Given the description of an element on the screen output the (x, y) to click on. 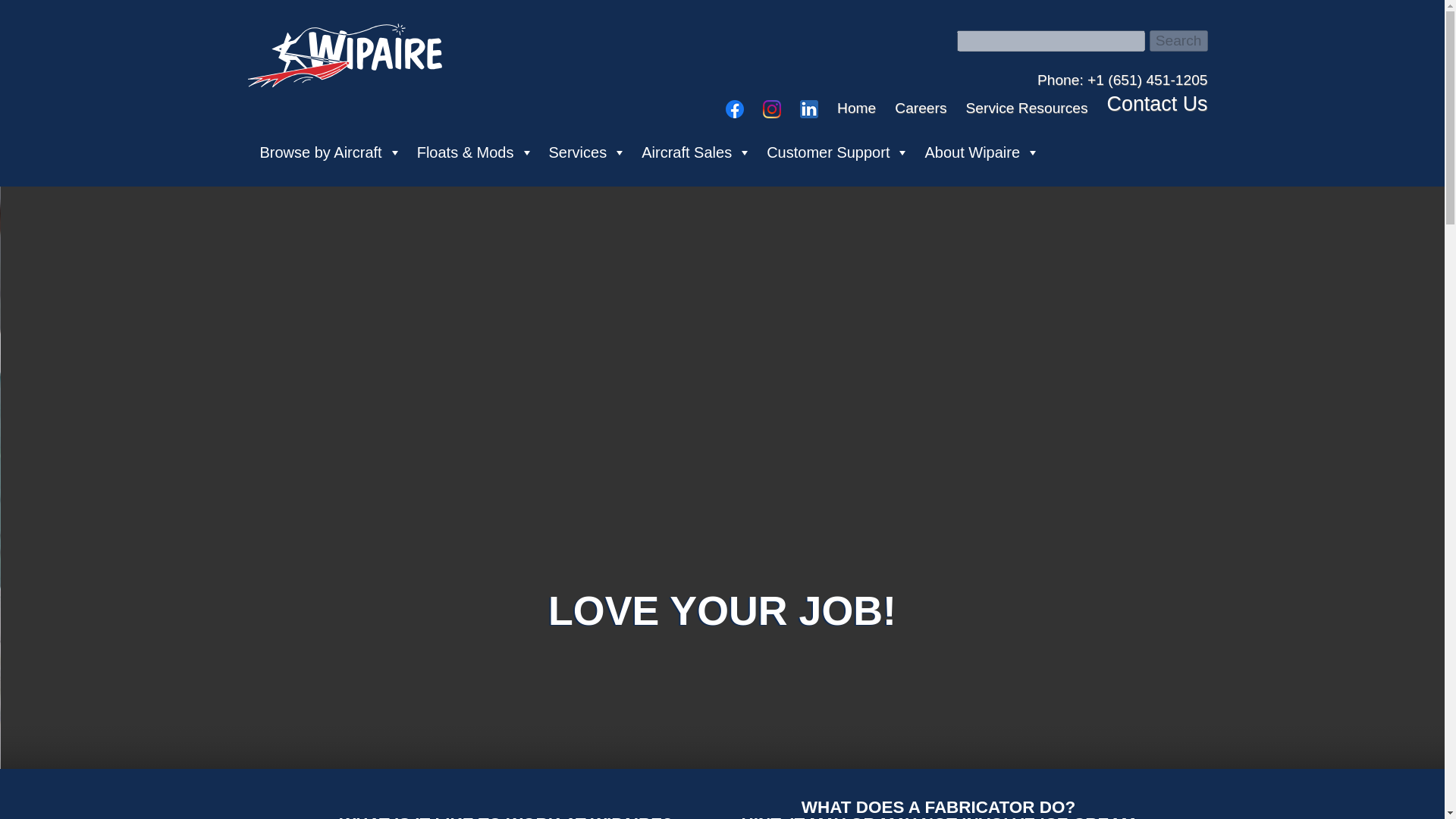
Service Resources (1026, 107)
Search (1179, 40)
Browse by Aircraft (330, 152)
Contact Us (1157, 104)
Careers (920, 107)
Home (856, 107)
